Given the description of an element on the screen output the (x, y) to click on. 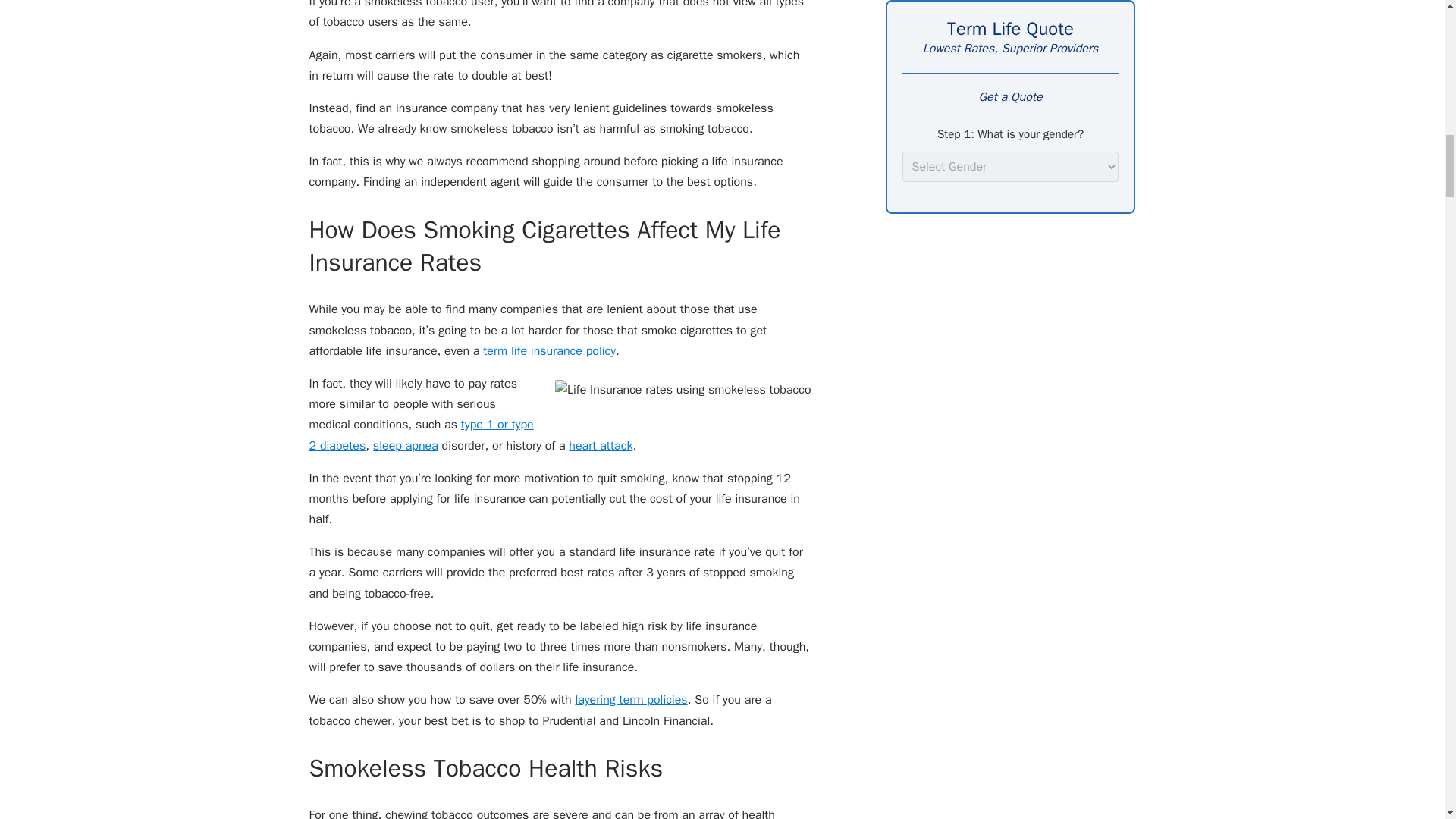
term life insurance policy (549, 350)
heart attack (600, 445)
layering term policies (631, 699)
sleep apnea (405, 445)
type 1 or type 2 diabetes (421, 434)
